Given the description of an element on the screen output the (x, y) to click on. 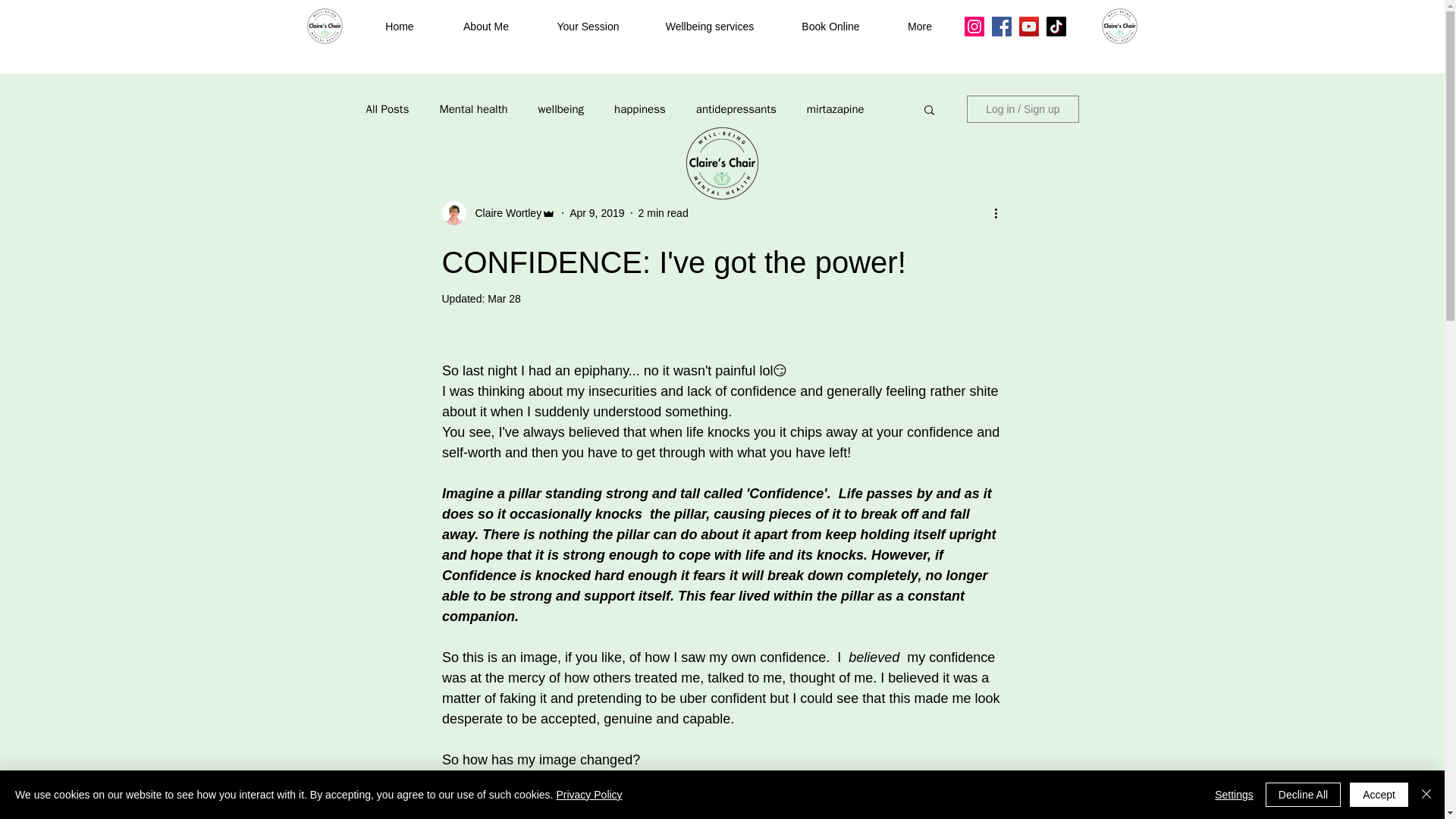
Mar 28 (504, 298)
About Me (486, 26)
antidepressants (735, 108)
happiness (639, 108)
Home (399, 26)
mirtazapine (835, 108)
Wellbeing services (709, 26)
All Posts (387, 108)
Claire Wortley (503, 212)
Mental health (472, 108)
